Given the description of an element on the screen output the (x, y) to click on. 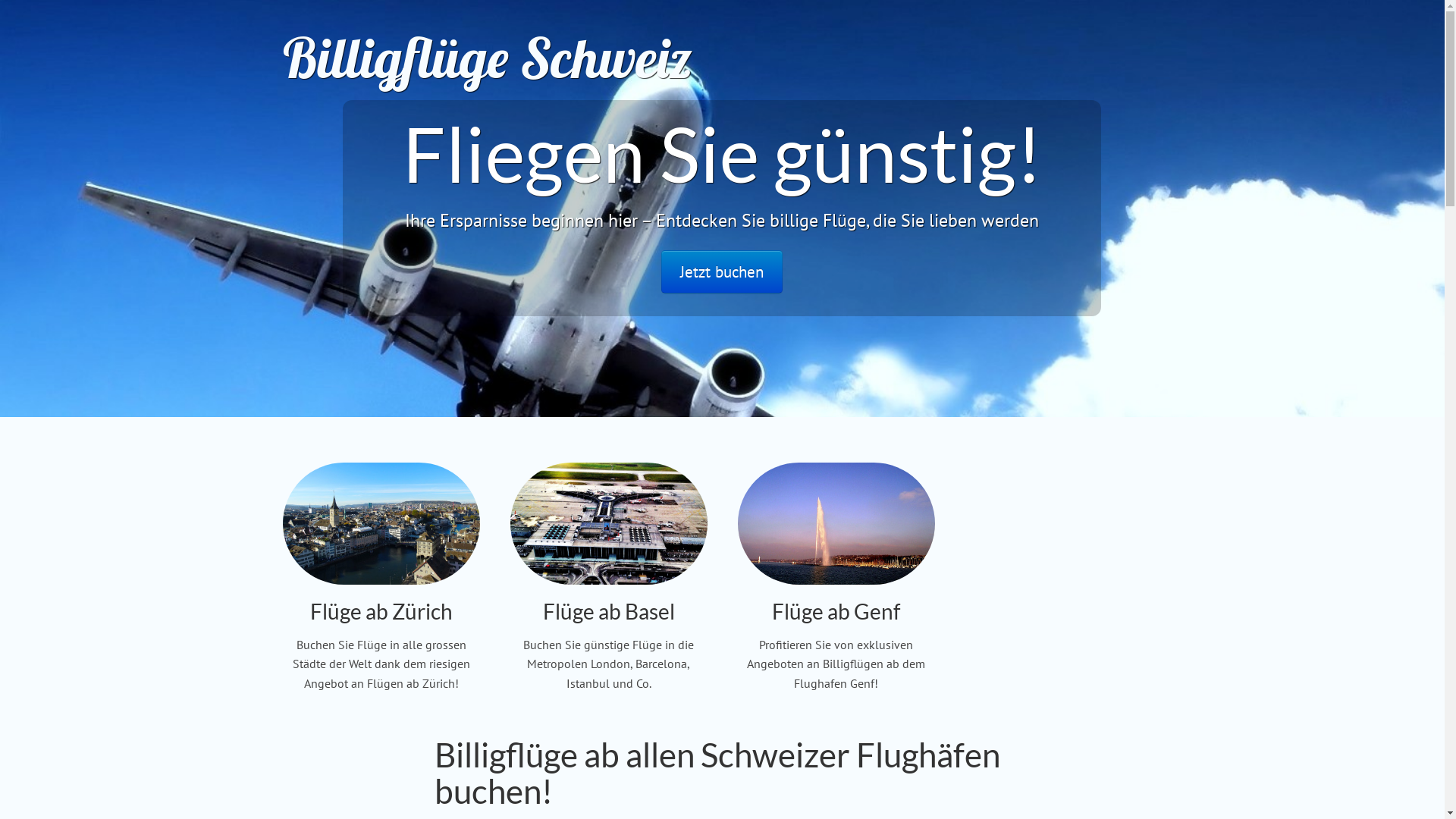
Jetzt buchen Element type: text (721, 271)
Skip to content Element type: text (1200, 59)
